Given the description of an element on the screen output the (x, y) to click on. 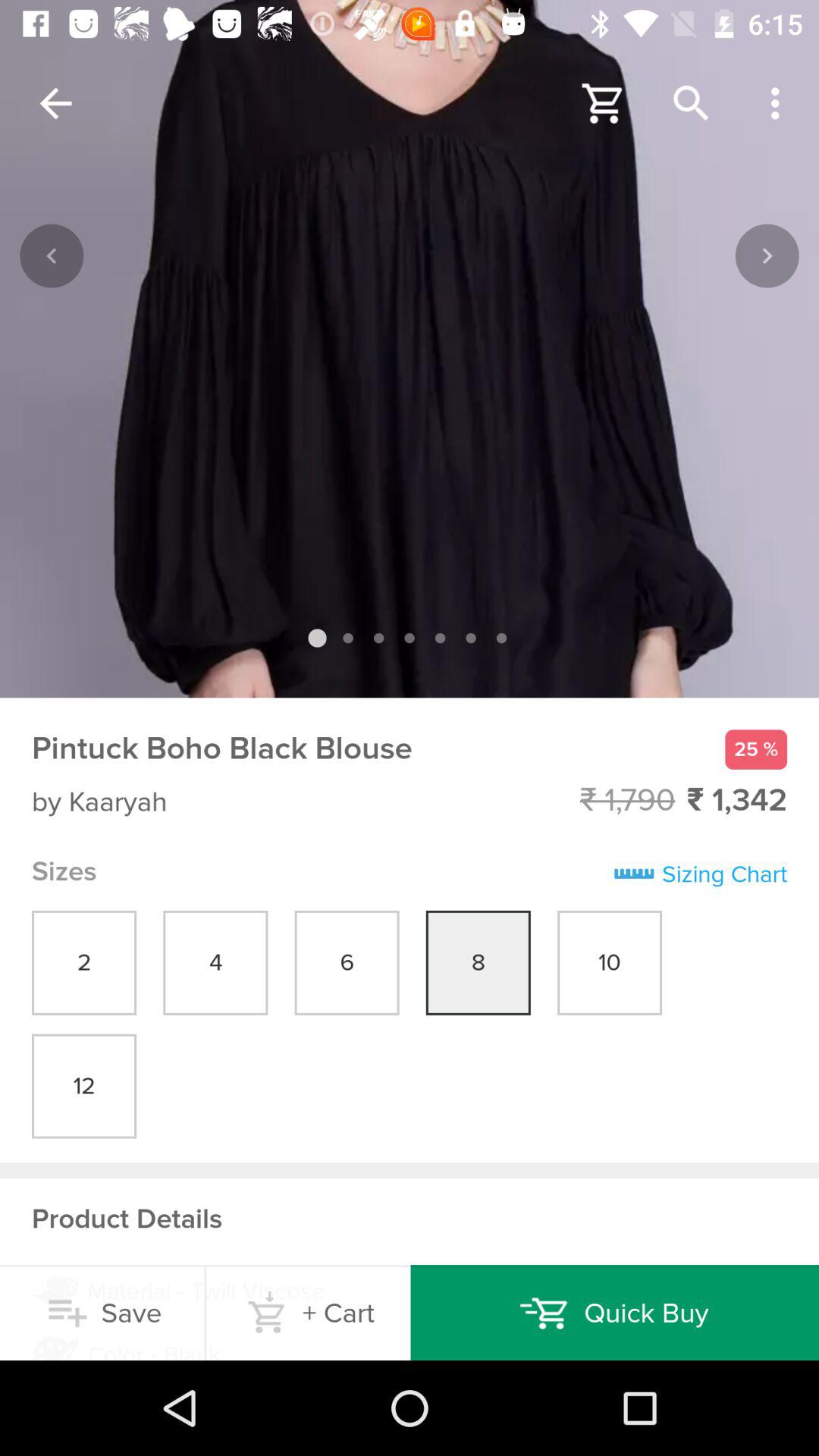
select the size option which says 10 (609, 962)
click on symbol beside sizing chart (634, 874)
click on the button which is in between 2 and 4 (214, 962)
click the backward button from the left (51, 256)
click the search button on the web page (691, 103)
click on the button which is next to the save (308, 1312)
click on 8 (477, 962)
